Given the description of an element on the screen output the (x, y) to click on. 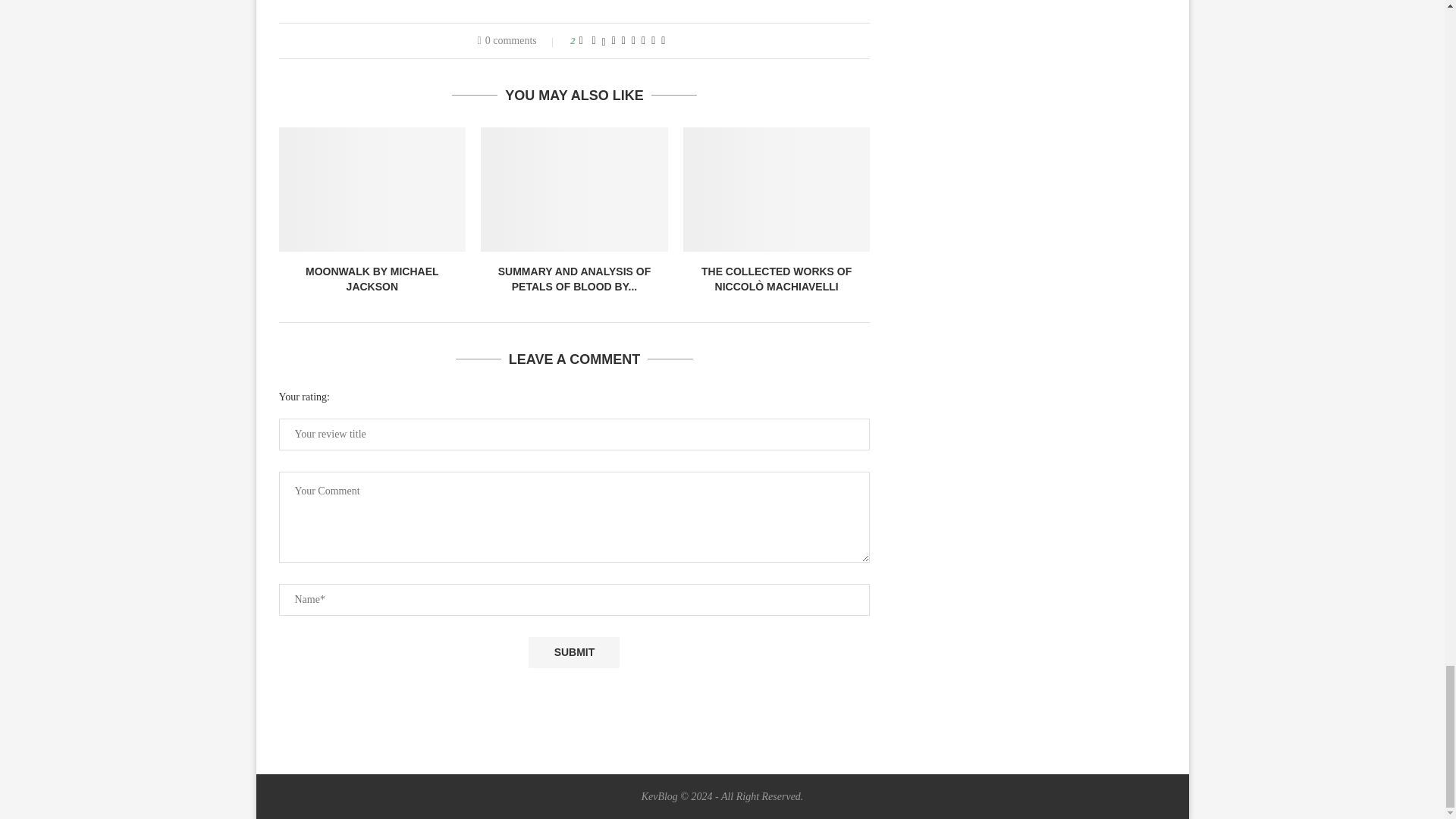
SUMMARY AND ANALYSIS OF PETALS OF BLOOD BY NGUGI WA THIONGO (574, 189)
Submit (574, 652)
SUMMARY AND ANALYSIS OF PETALS OF BLOOD BY... (573, 278)
Submit (574, 652)
MOONWALK BY MICHAEL JACKSON (372, 278)
Moonwalk by Michael Jackson (372, 189)
